Given the description of an element on the screen output the (x, y) to click on. 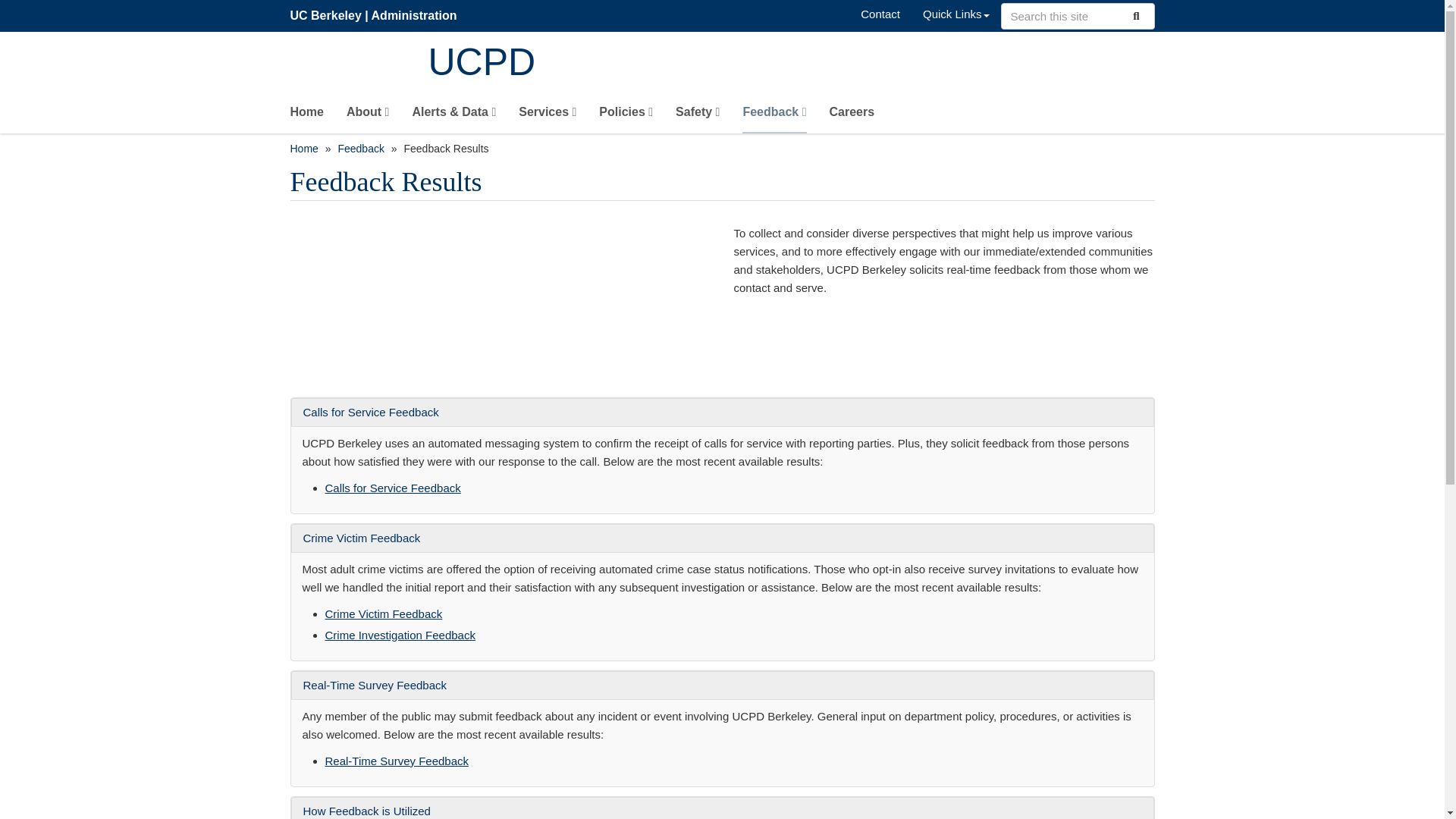
Home (791, 63)
UC Berkeley (325, 15)
Safety (697, 115)
Services (547, 115)
Home (306, 115)
Administration (414, 15)
UCPD (791, 63)
Submit Search (1133, 15)
Policies (625, 115)
